Given the description of an element on the screen output the (x, y) to click on. 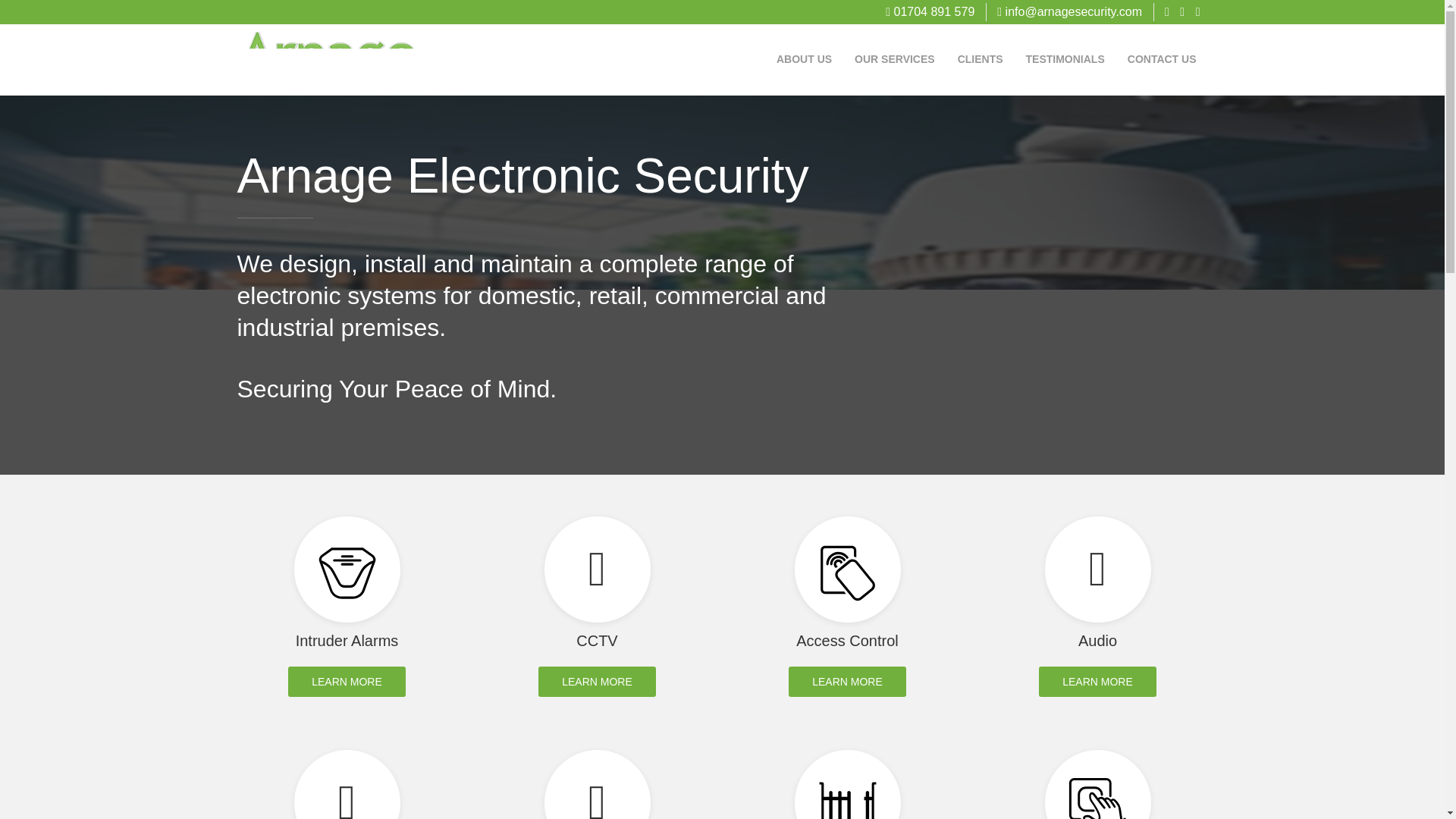
ABOUT US (804, 59)
TESTIMONIALS (1065, 59)
OUR SERVICES (894, 59)
LEARN MORE (597, 681)
CLIENTS (980, 59)
LEARN MORE (1097, 681)
01704 891 579 (929, 11)
LEARN MORE (847, 681)
LEARN MORE (347, 681)
CONTACT US (1162, 59)
